Given the description of an element on the screen output the (x, y) to click on. 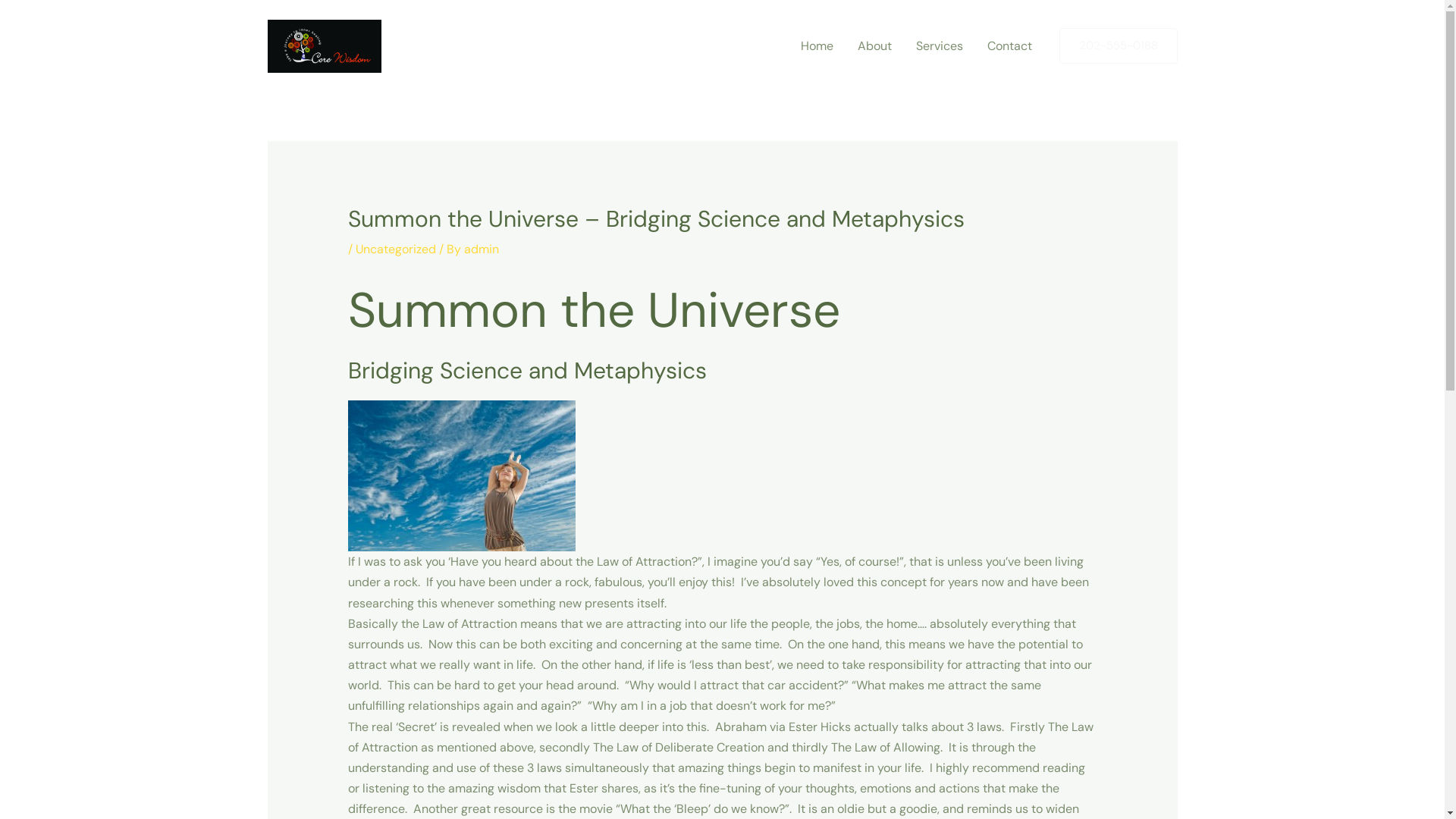
202-555-0188 Element type: text (1117, 45)
admin Element type: text (481, 249)
Uncategorized Element type: text (395, 249)
Contact Element type: text (1009, 45)
Home Element type: text (816, 45)
About Element type: text (873, 45)
Services Element type: text (939, 45)
